Given the description of an element on the screen output the (x, y) to click on. 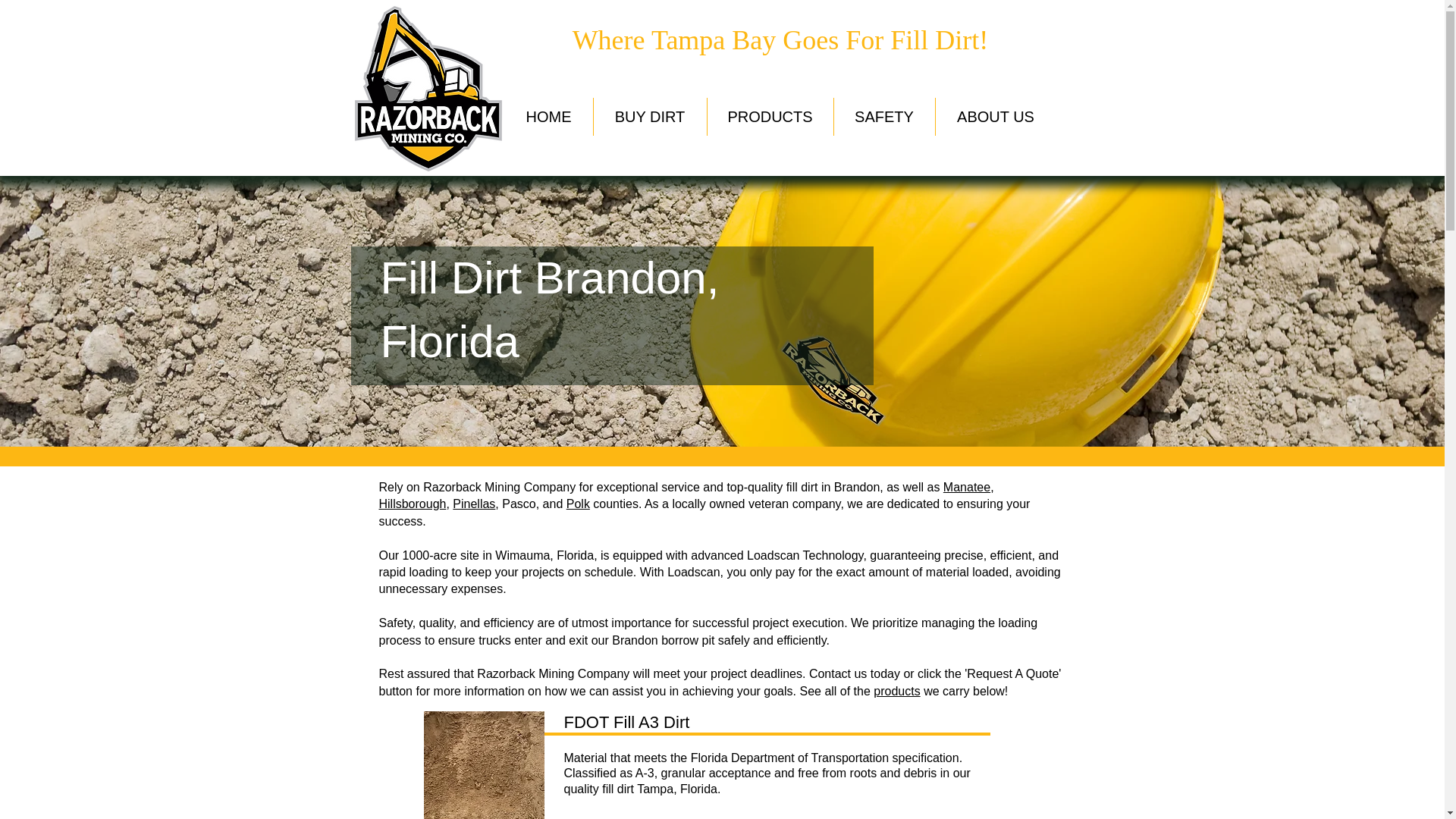
HOME (548, 116)
Hillsborough (412, 503)
Where Tampa Bay Goes For Fill Dirt! (780, 40)
Tampa Bay FDOT A3 Fill Dirt material (483, 765)
Manatee (966, 486)
Polk (577, 503)
SAFETY (884, 116)
Razorback Mining Company Logo (428, 88)
BUY DIRT (649, 116)
PRODUCTS (769, 116)
ABOUT US (996, 116)
Pinellas (473, 503)
products (896, 690)
